Given the description of an element on the screen output the (x, y) to click on. 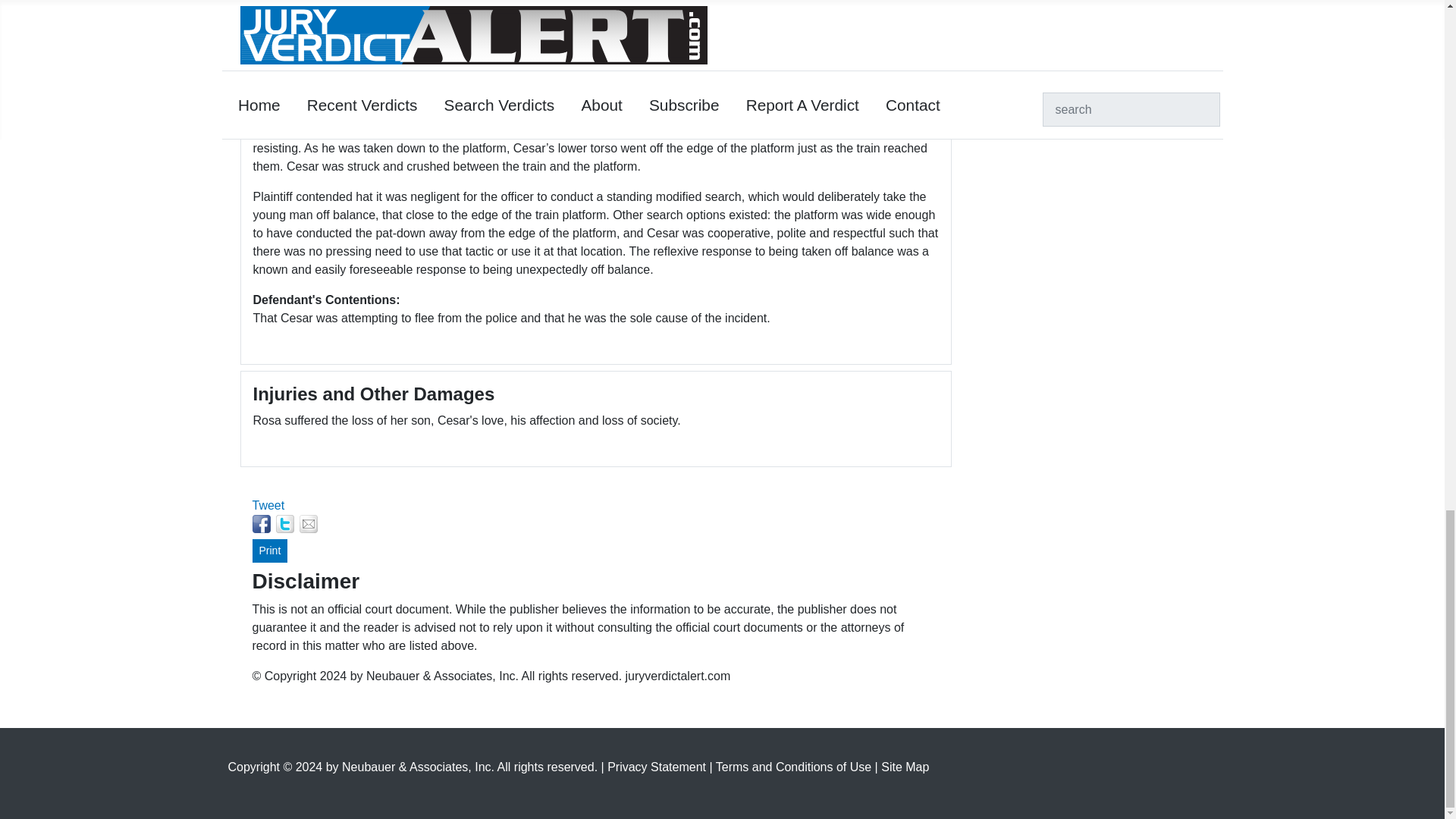
Print (268, 550)
Add this Page to Facebook (260, 524)
Recommend this Page (307, 524)
Print (268, 550)
Terms and Conditions of Use (795, 766)
Jury Verdict Alert Sitemap (904, 766)
Add this Page to Twitter (285, 524)
Tweet (267, 504)
Privacy Statement (656, 766)
Site Map (904, 766)
